Given the description of an element on the screen output the (x, y) to click on. 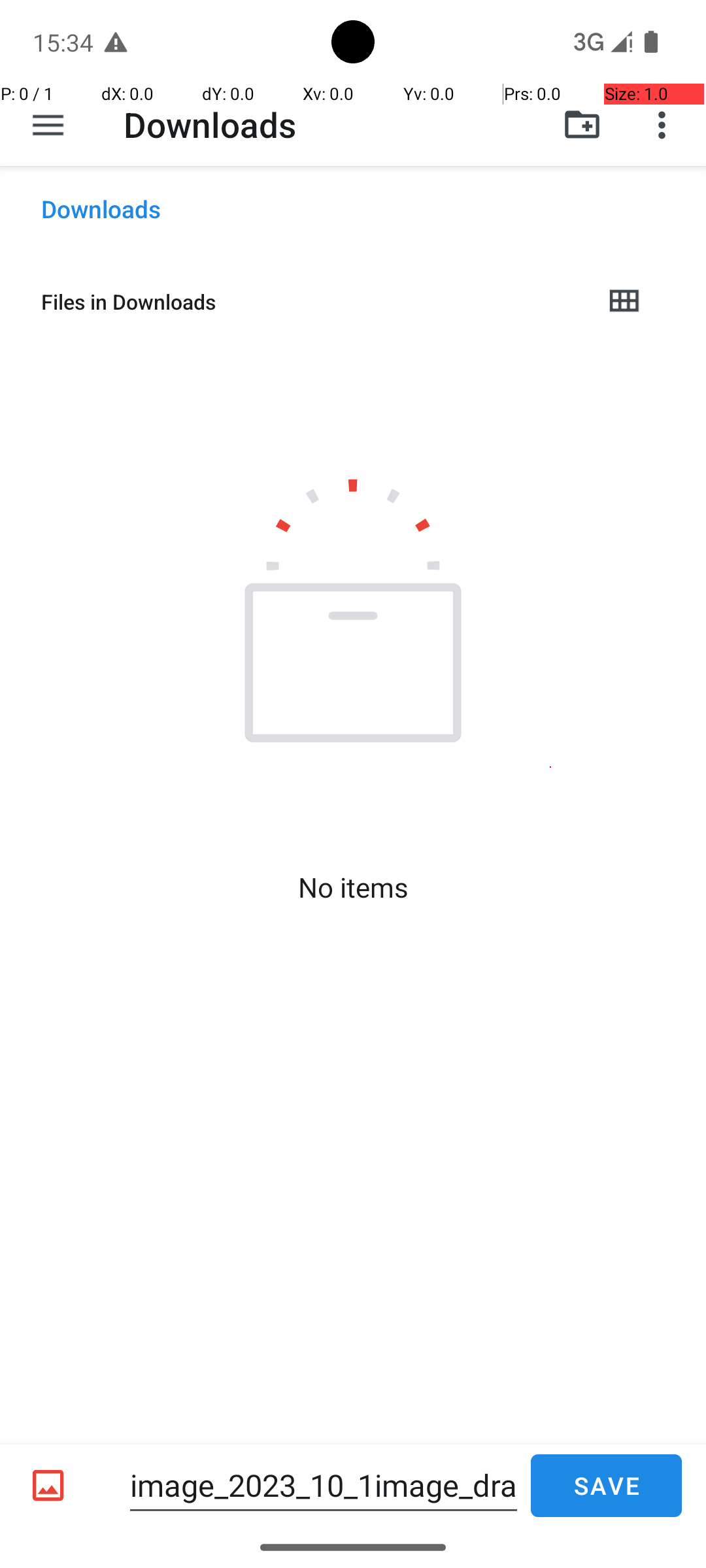
New folder Element type: android.widget.TextView (581, 124)
image_2023_10_1image_draw_2final_version_drawing_2023_10_01023_final_version5_15_34_07.png Element type: android.widget.EditText (323, 1485)
